Given the description of an element on the screen output the (x, y) to click on. 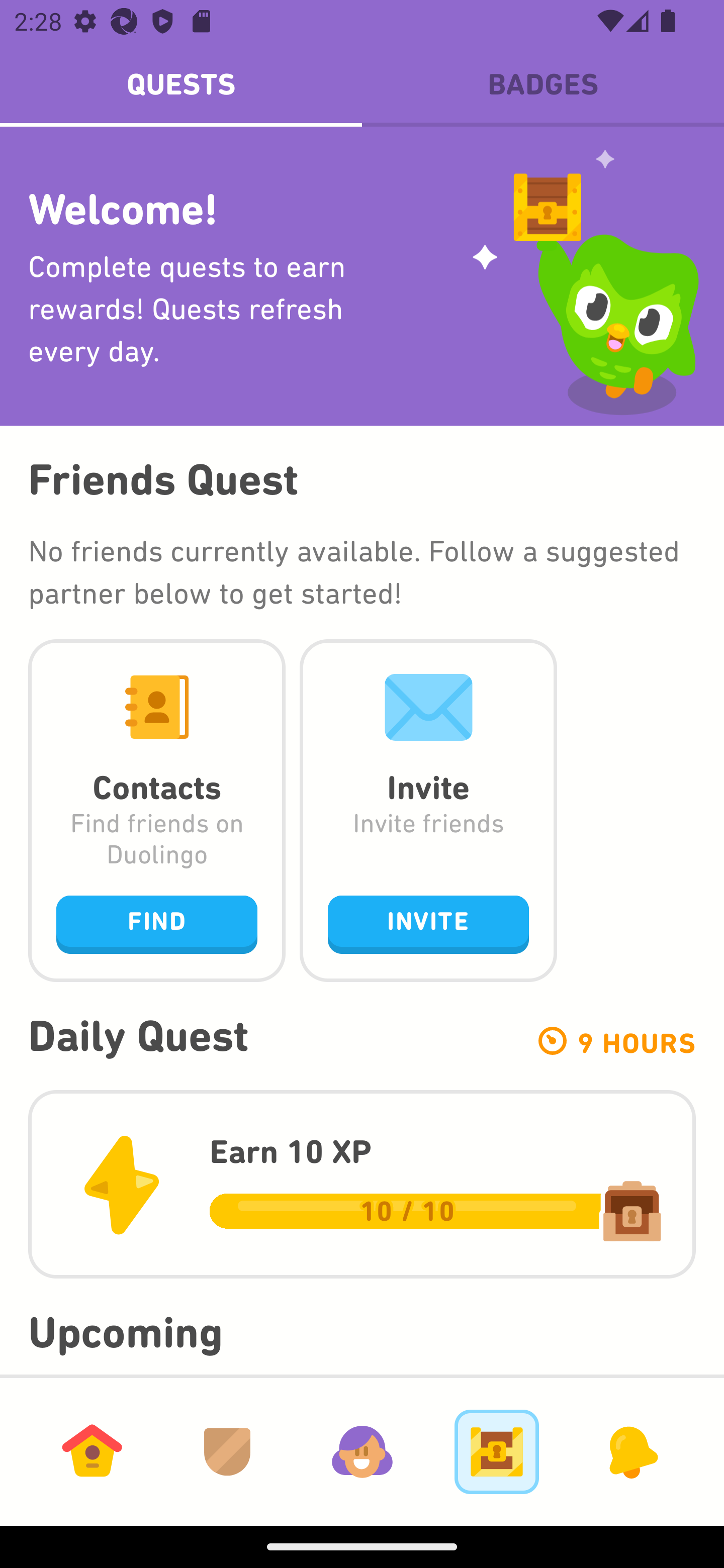
BADGES (543, 84)
FIND (156, 924)
INVITE (428, 924)
Learn Tab (91, 1451)
Leagues Tab (227, 1451)
Profile Tab (361, 1451)
Goals Tab (496, 1451)
News Tab (631, 1451)
